Given the description of an element on the screen output the (x, y) to click on. 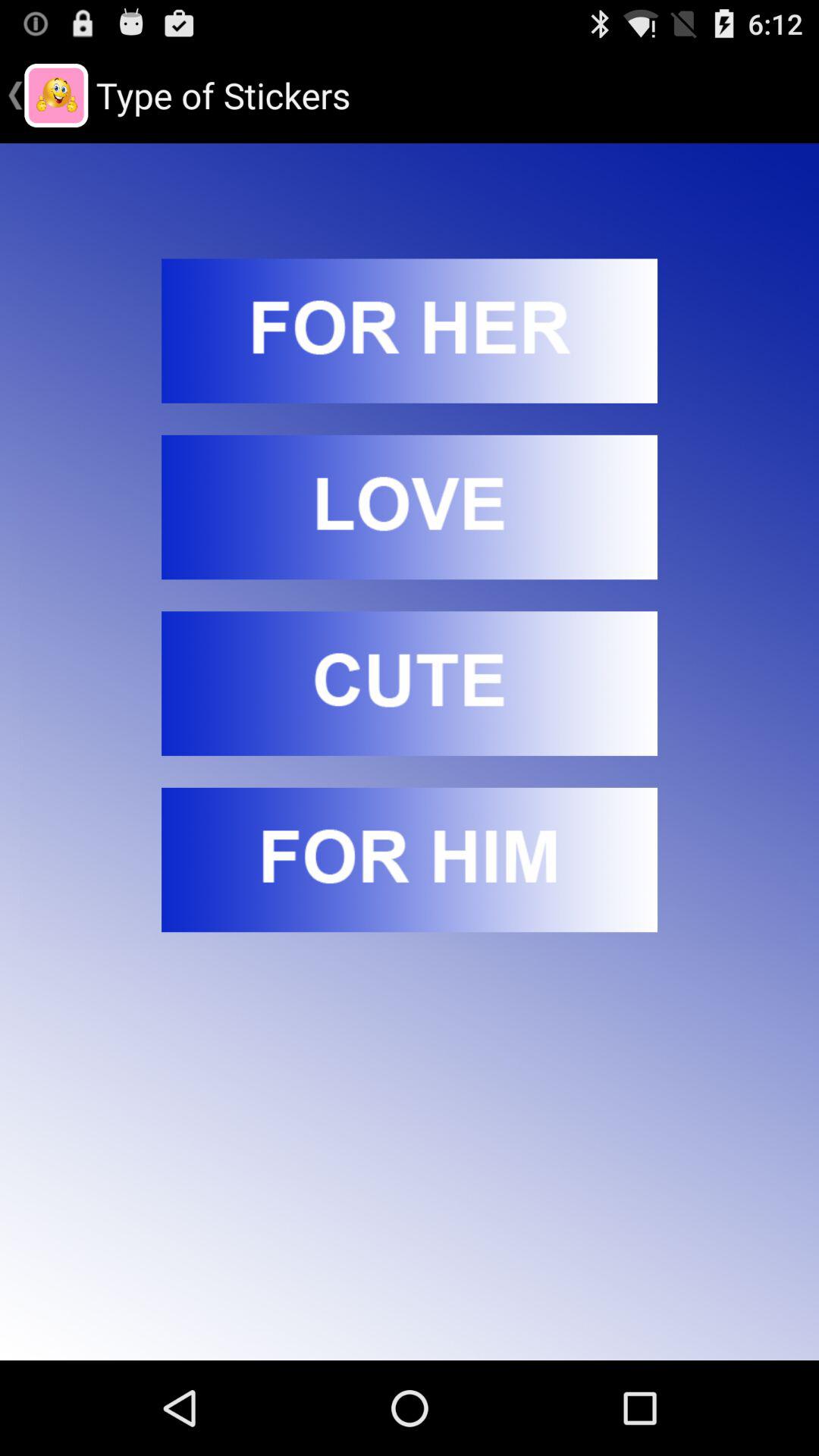
expand option (409, 330)
